Given the description of an element on the screen output the (x, y) to click on. 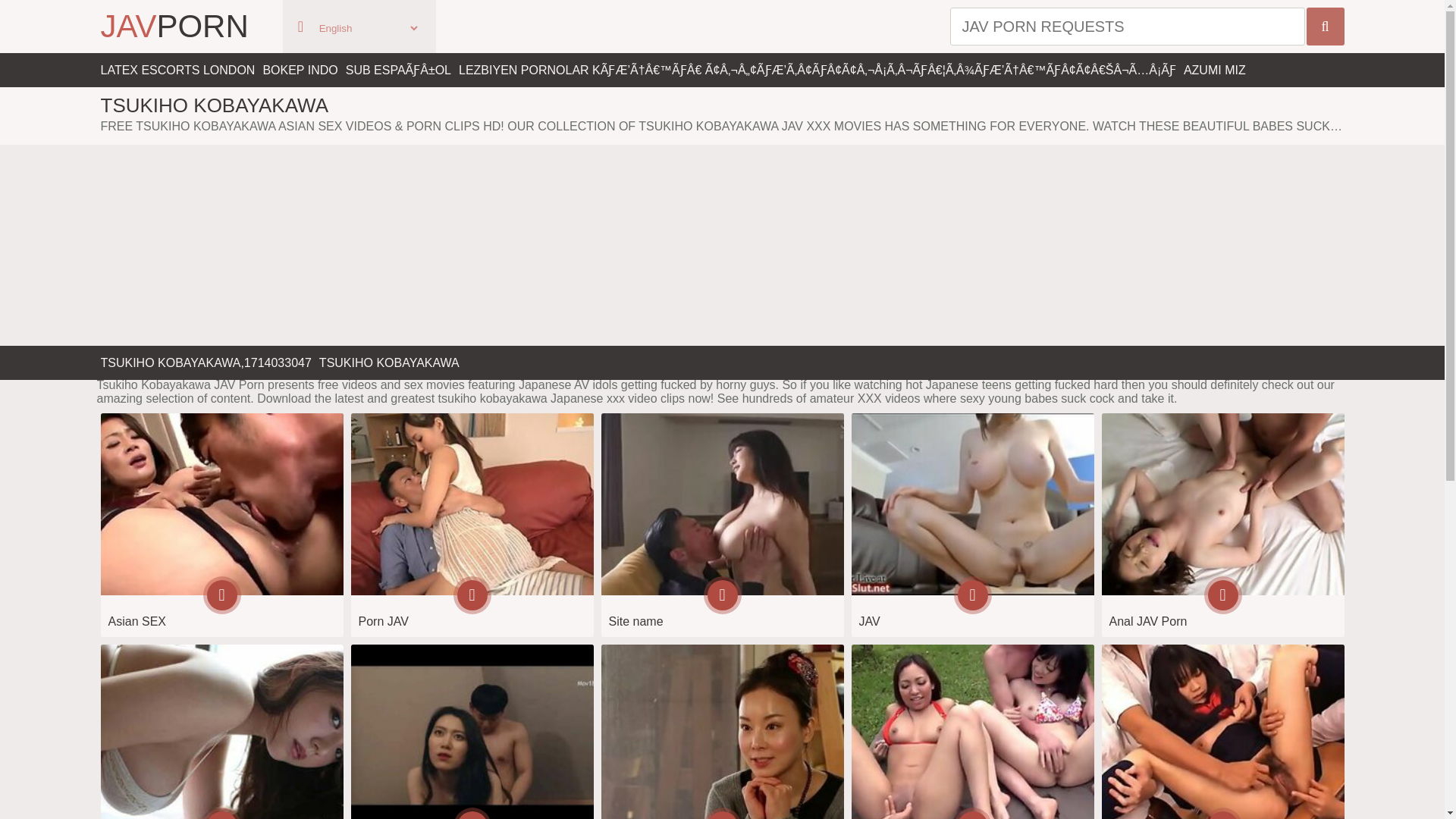
analjavporn.info (1221, 525)
japanesejav.net (221, 731)
pornjav.info (471, 525)
creampiedasians.com (221, 525)
japanesejav.net (221, 731)
BOKEP INDO (299, 69)
onlyjavhd.com (1221, 731)
freejav.cc (471, 731)
Porn JAV (471, 525)
Site name (721, 525)
